Given the description of an element on the screen output the (x, y) to click on. 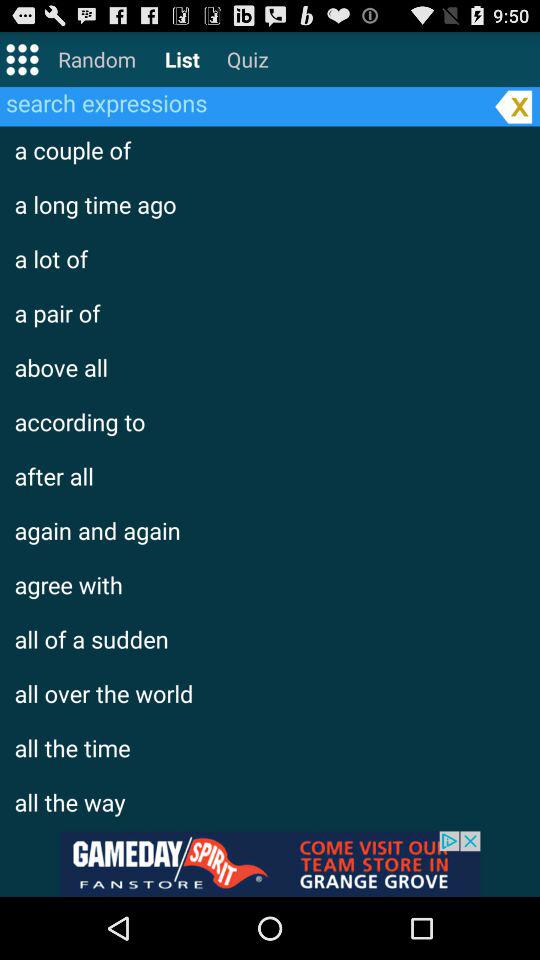
go to the backword option (513, 106)
